Given the description of an element on the screen output the (x, y) to click on. 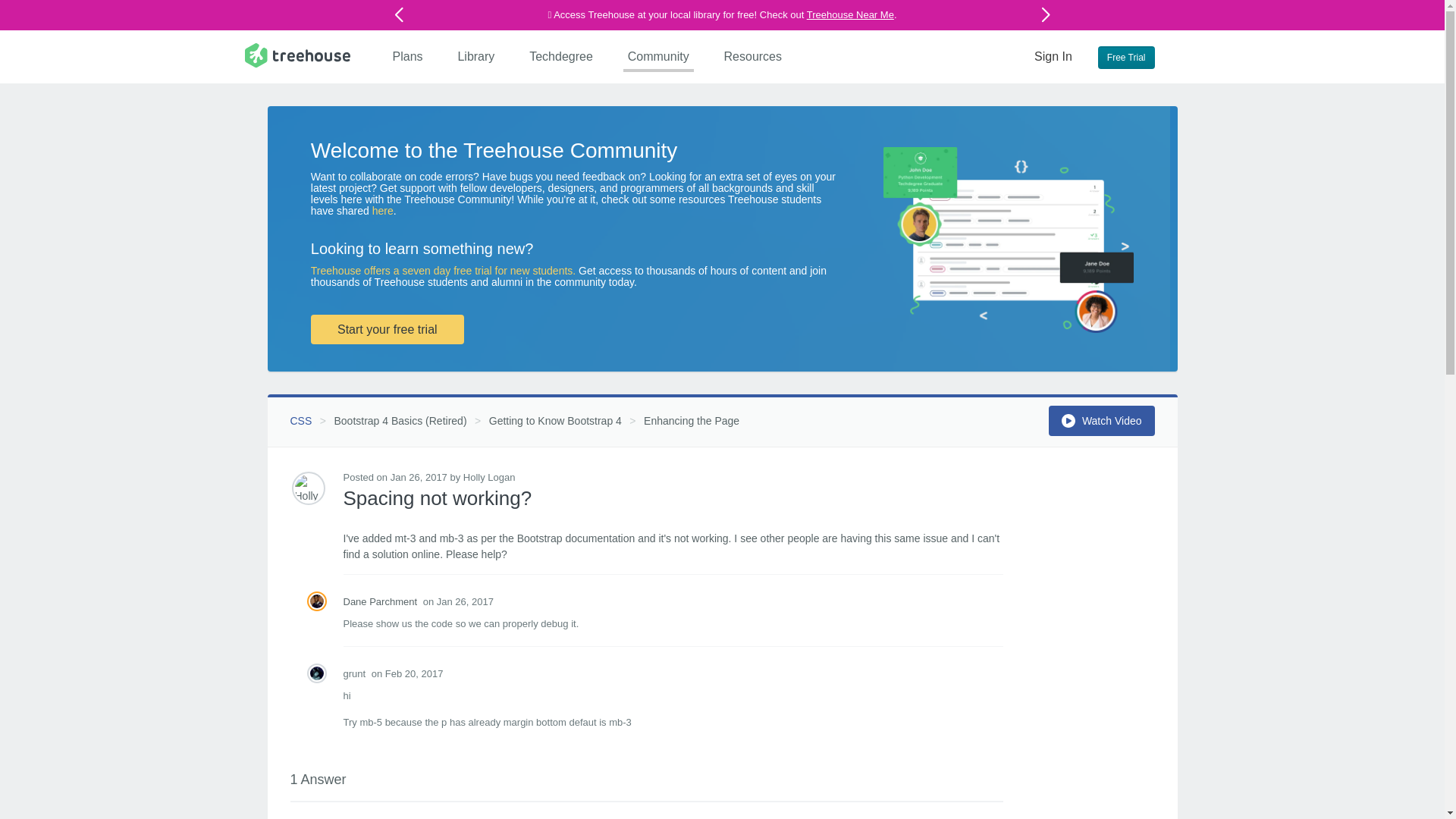
Plans (408, 56)
January 26, 2017 at 5:07am  (411, 477)
Treehouse Logo (296, 55)
Treehouse Near Me (849, 14)
January 26, 2017 at 5:30am  (458, 601)
Treehouse Logo (296, 55)
February 20, 2017 at 7:53pm  (407, 673)
